Given the description of an element on the screen output the (x, y) to click on. 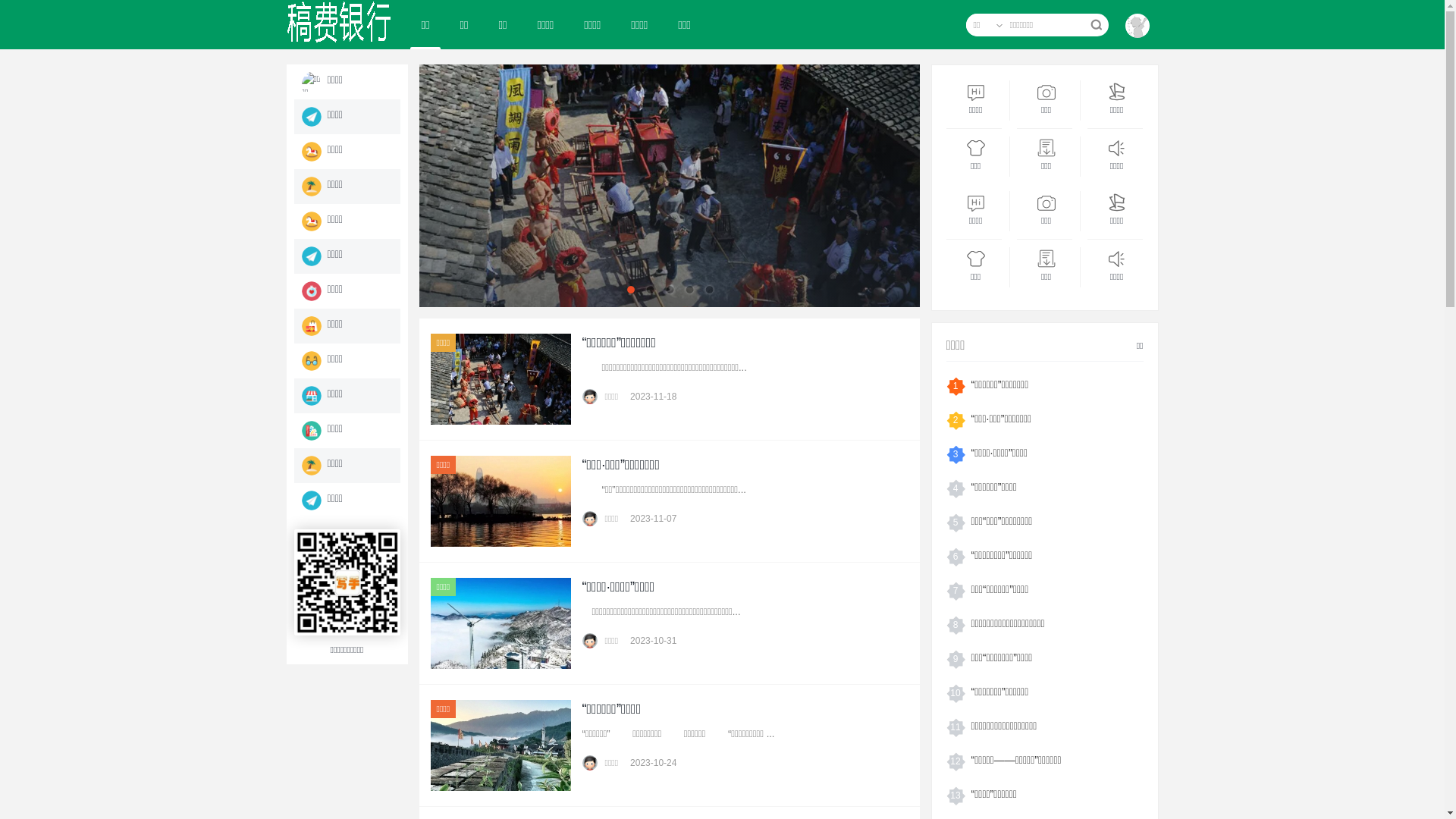
true Element type: text (1094, 24)
